Given the description of an element on the screen output the (x, y) to click on. 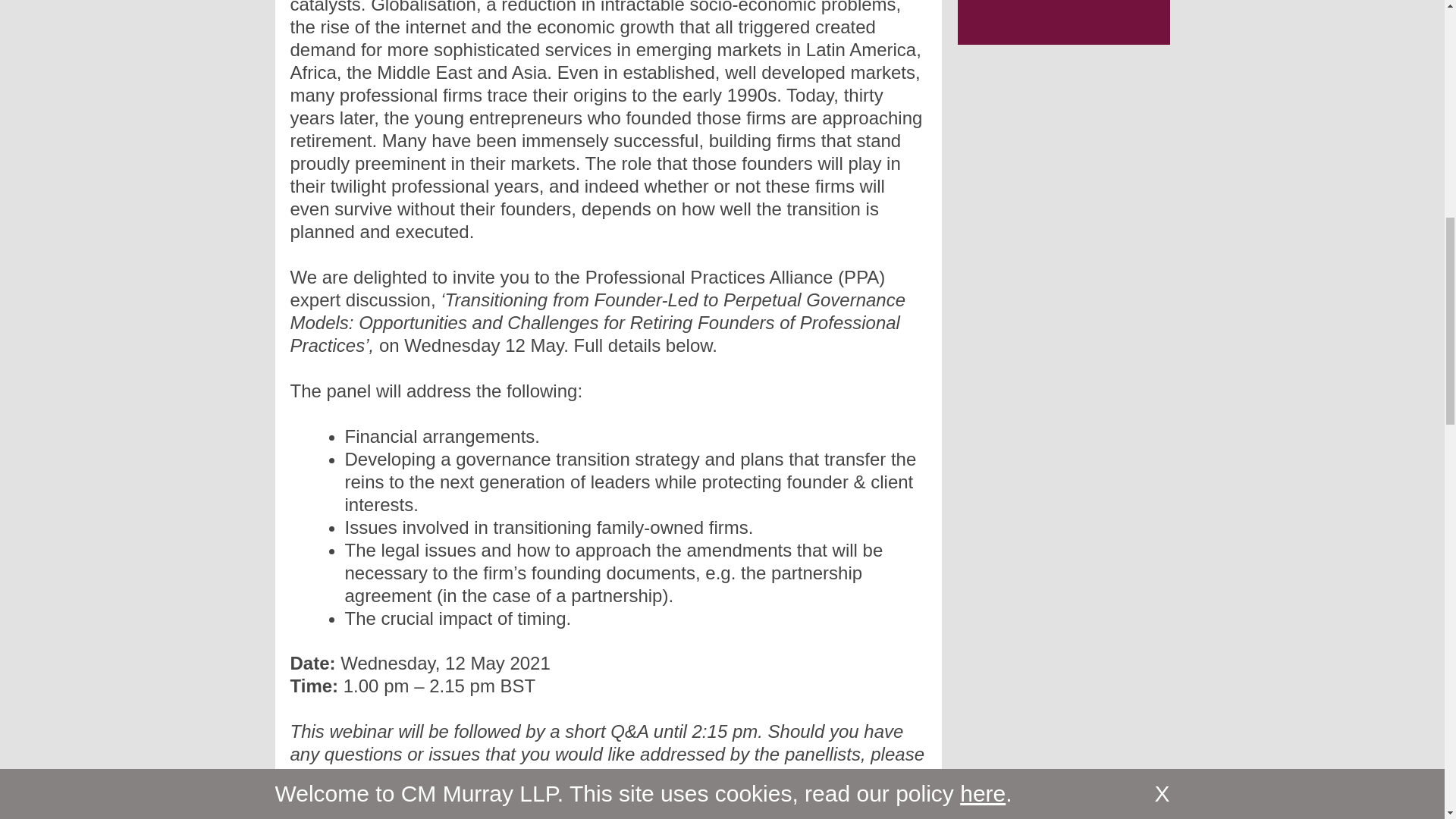
email Rob Millard (365, 776)
